Given the description of an element on the screen output the (x, y) to click on. 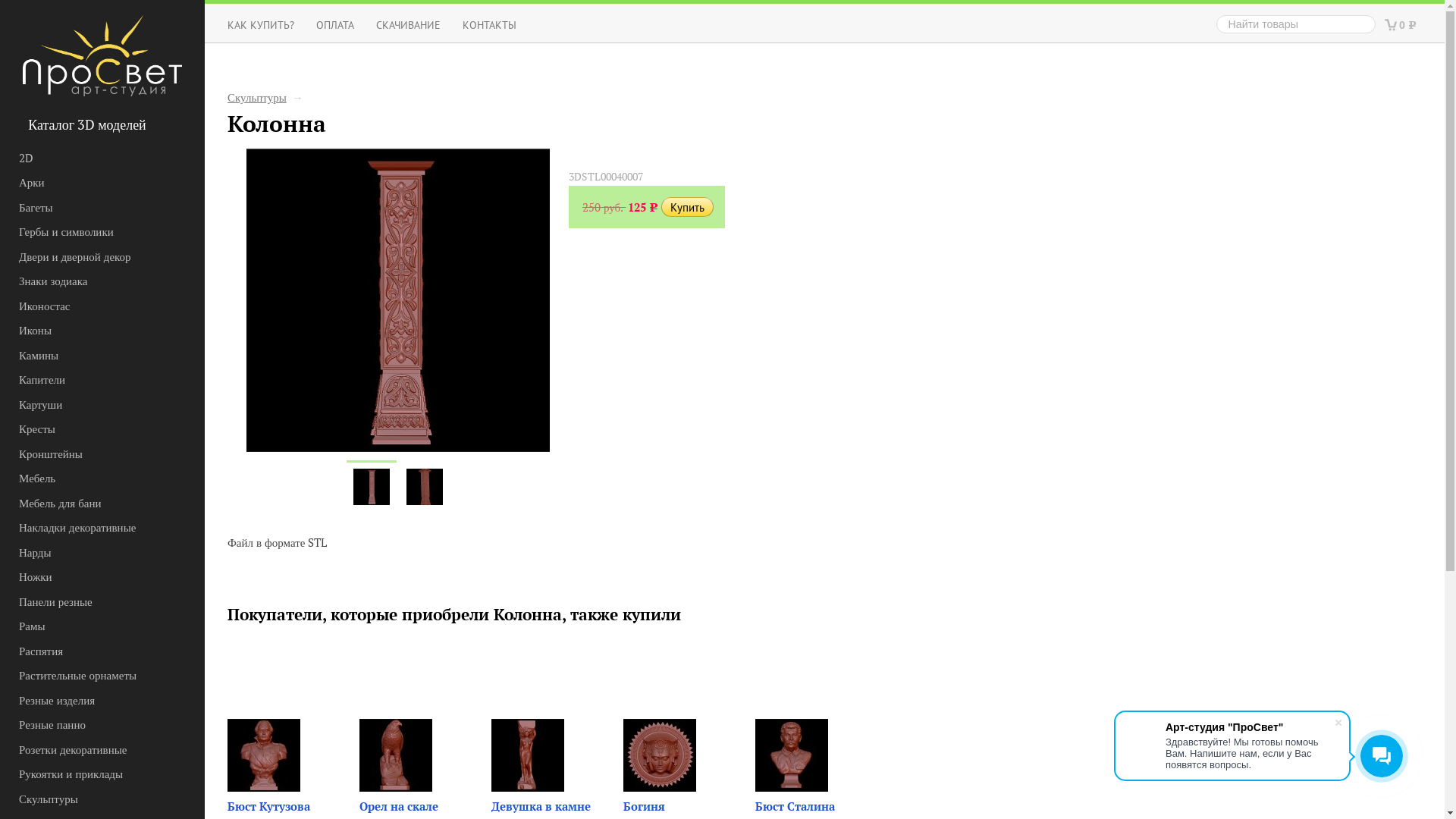
2D Element type: text (86, 157)
